Given the description of an element on the screen output the (x, y) to click on. 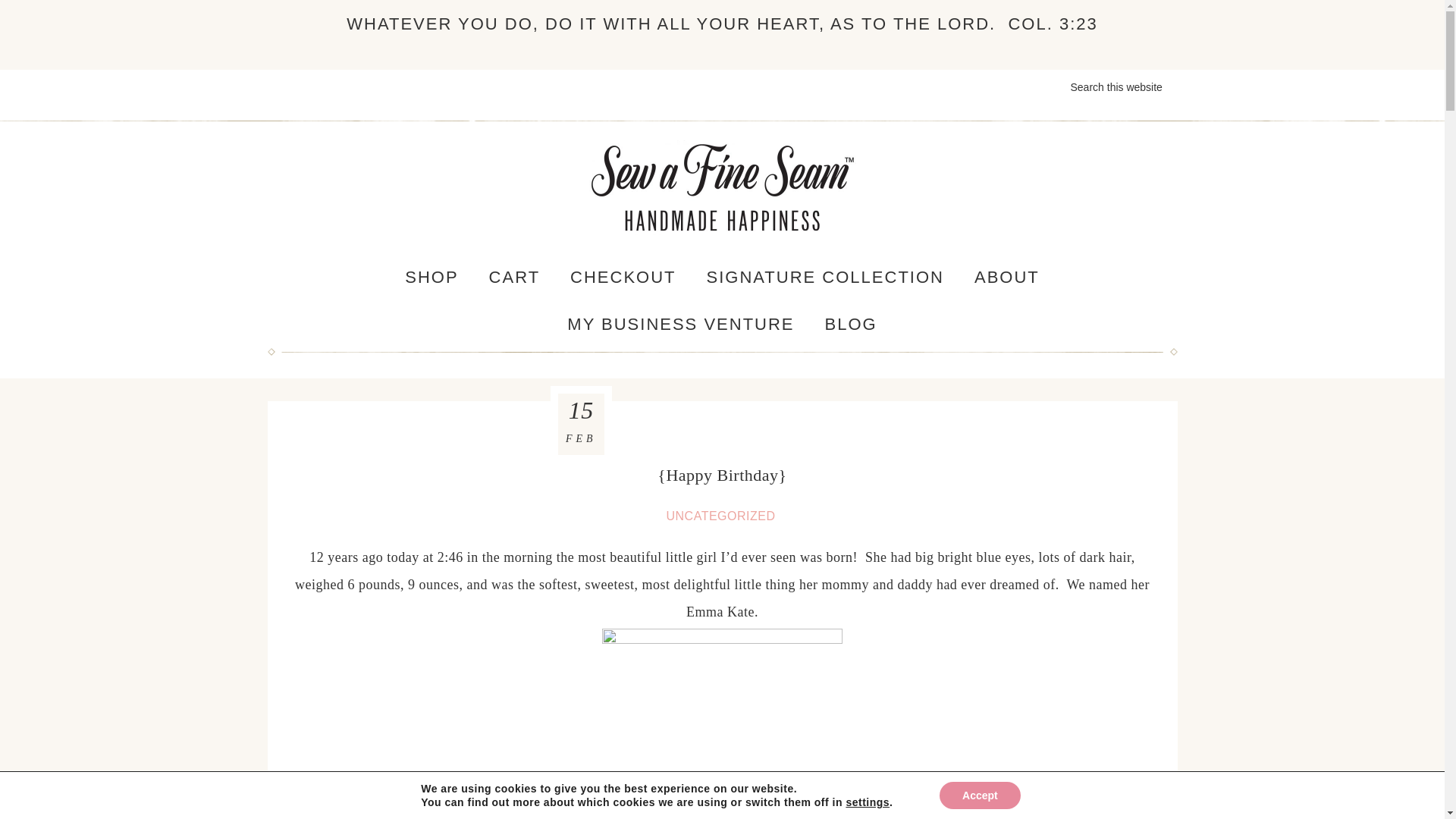
ABOUT (1006, 277)
About (1006, 277)
MY BUSINESS VENTURE (680, 324)
SHOP (431, 277)
UNCATEGORIZED (721, 515)
BLOG (850, 324)
Store (431, 277)
